Given the description of an element on the screen output the (x, y) to click on. 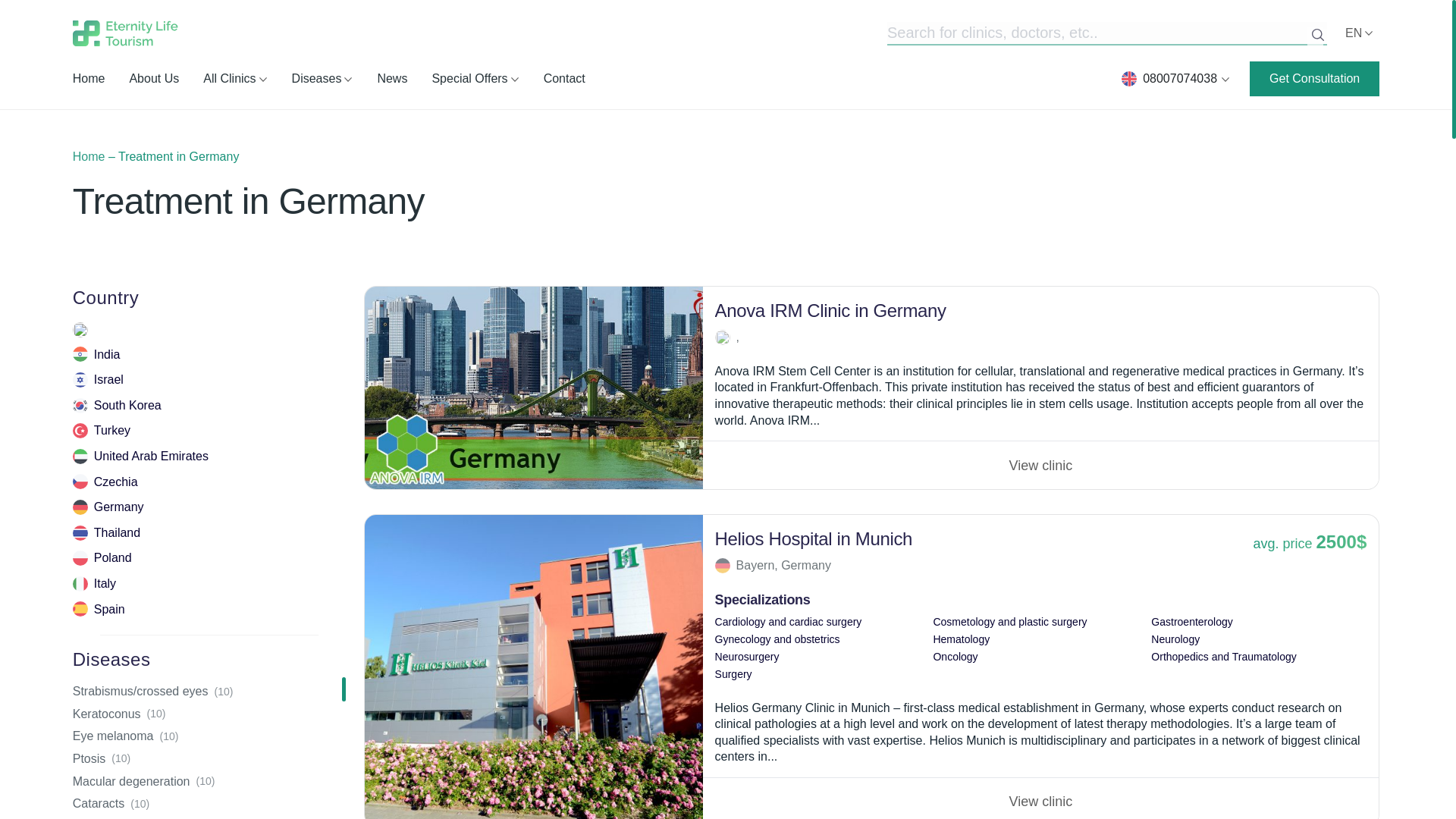
Helios Hospital in Munich (534, 667)
About Us (154, 78)
Home (88, 155)
Adenocarcinoma (1040, 798)
EN (1357, 33)
Anova IRM Clinic in Germany (534, 387)
All Clinics (234, 78)
Diseases (322, 78)
Adenocarcinoma (1040, 464)
